Given the description of an element on the screen output the (x, y) to click on. 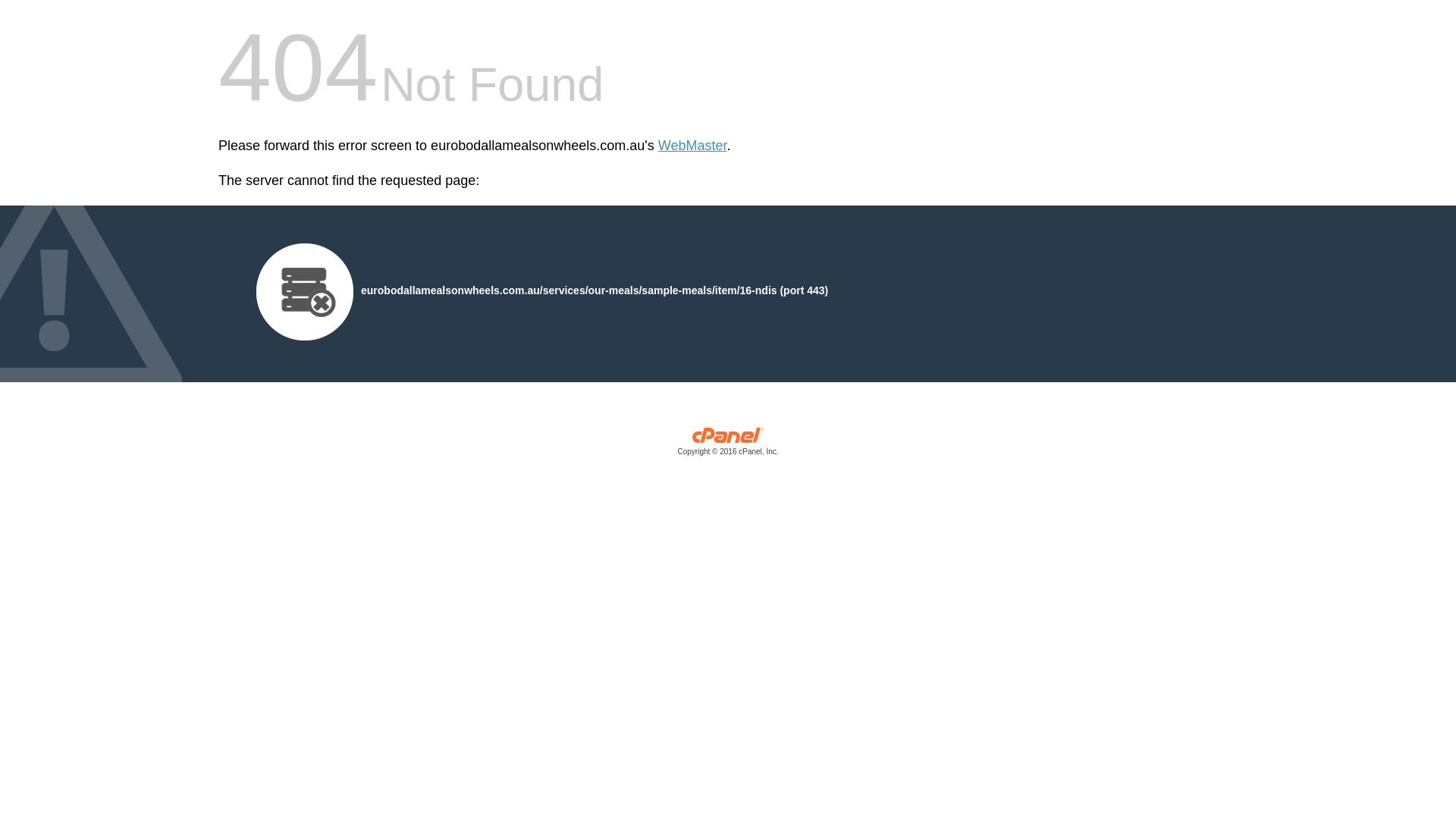
WebMaster Element type: text (692, 145)
